Given the description of an element on the screen output the (x, y) to click on. 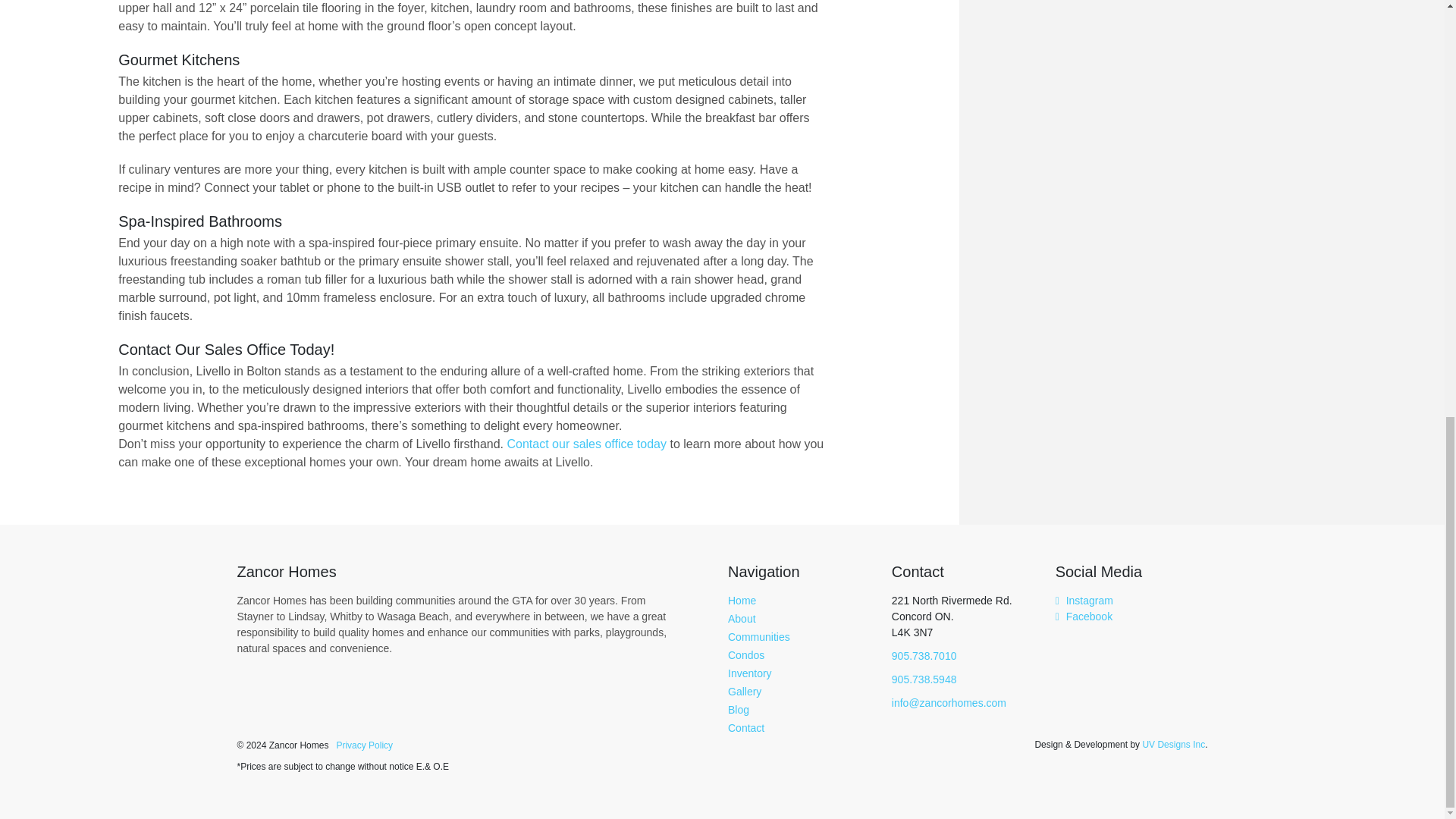
Gallery (744, 691)
Contact our sales office today (586, 442)
Communities (759, 636)
Web Design Toronto (1173, 743)
Inventory (749, 673)
Condos (746, 654)
Blog (738, 709)
About (741, 618)
Contact (746, 727)
Home (741, 600)
